Given the description of an element on the screen output the (x, y) to click on. 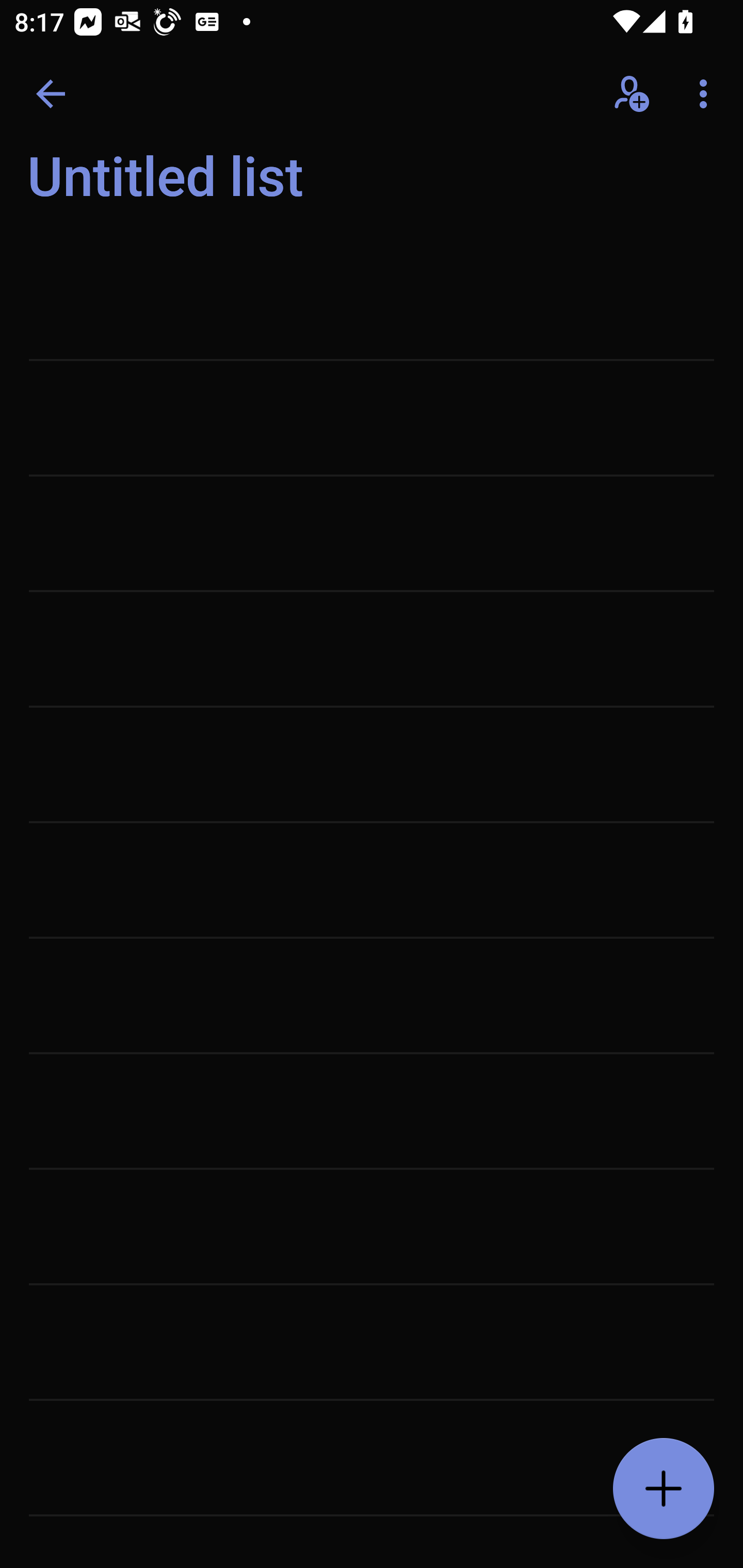
Back (50, 93)
Share list (632, 93)
More options (706, 93)
My Day, 1 tasks 1 (182, 187)
Add a task (663, 1488)
